Given the description of an element on the screen output the (x, y) to click on. 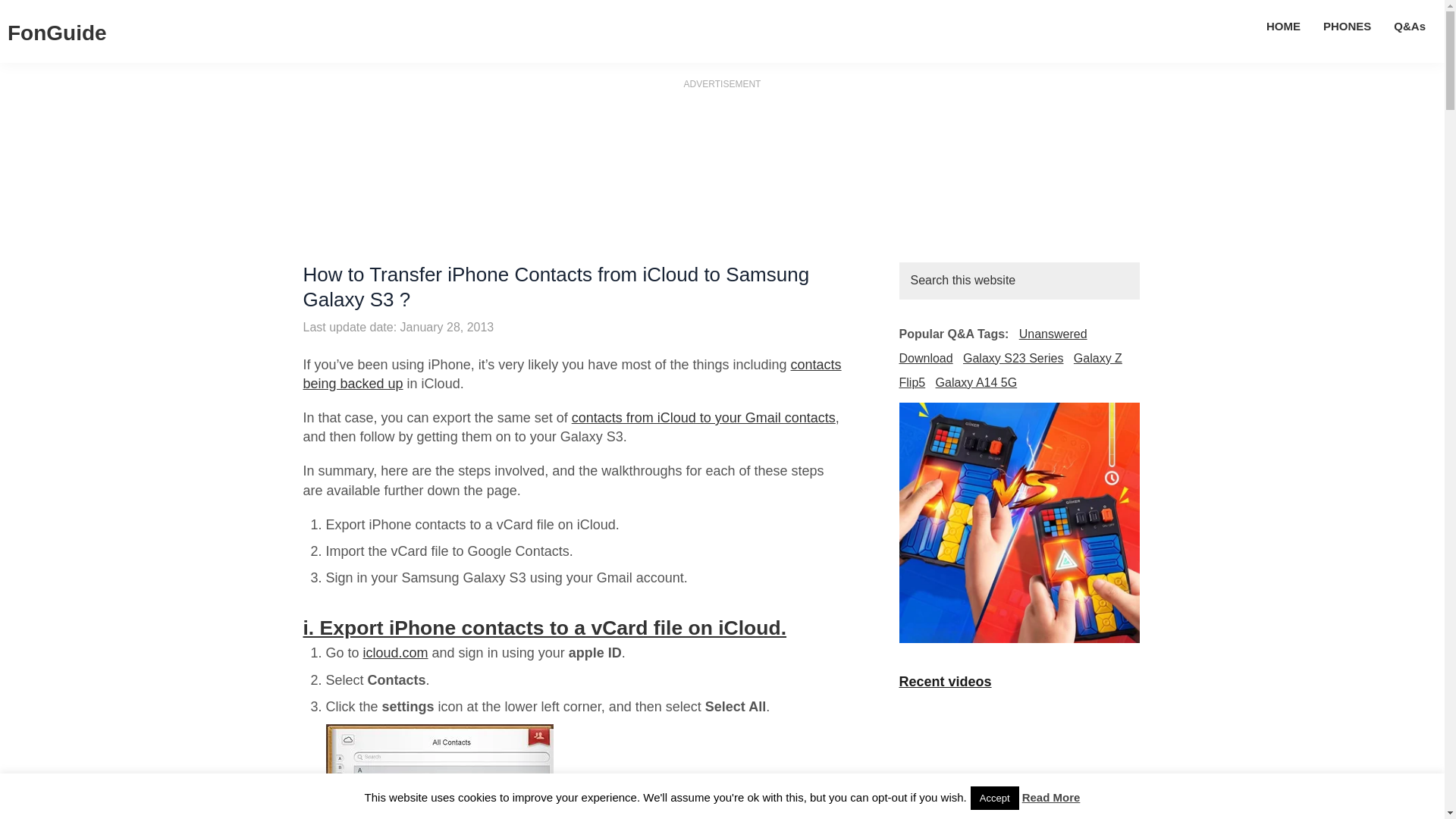
contacts being backed up (571, 374)
HOME (1283, 25)
YouTube video player (1019, 755)
contacts from iCloud to your Gmail contacts (703, 417)
FonGuide (56, 33)
icloud.com (395, 652)
PHONES (1346, 25)
Advertisement (721, 200)
